Given the description of an element on the screen output the (x, y) to click on. 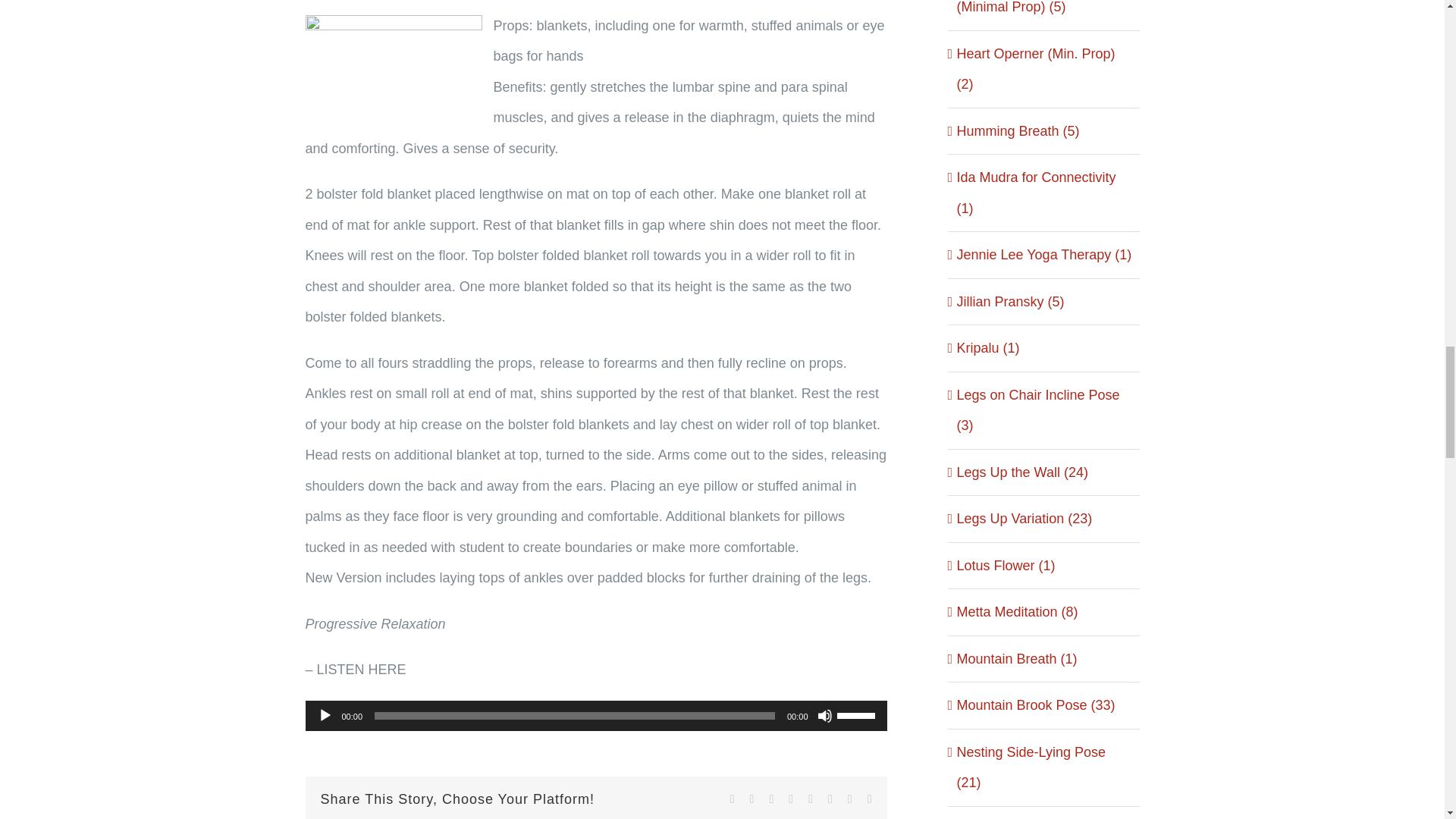
Mute (824, 715)
Play (324, 715)
